Given the description of an element on the screen output the (x, y) to click on. 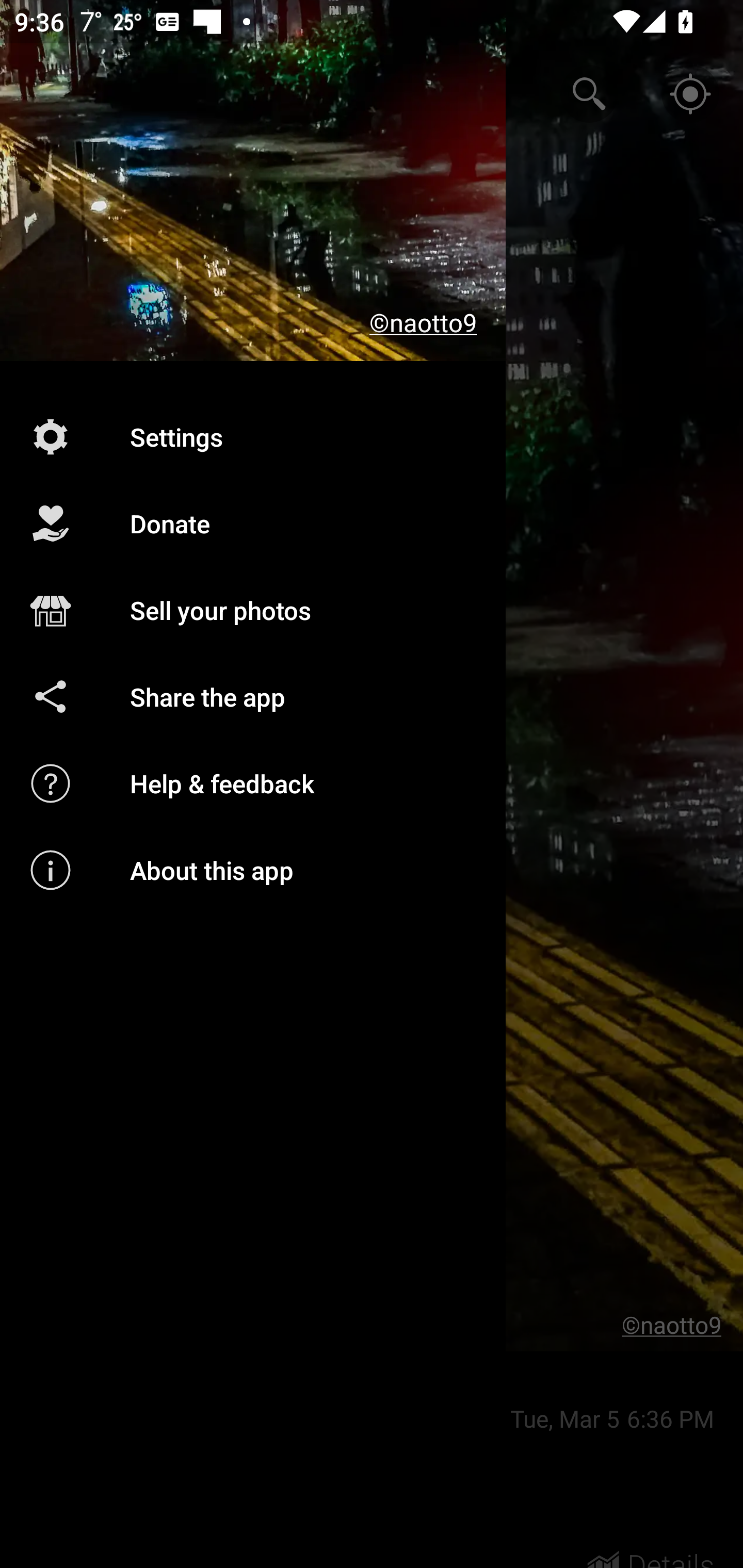
©naotto9 (252, 180)
Settings (252, 436)
Donate (252, 523)
Sell your photos (252, 610)
Share the app (252, 696)
Help & feedback (252, 783)
About this app (252, 870)
